Given the description of an element on the screen output the (x, y) to click on. 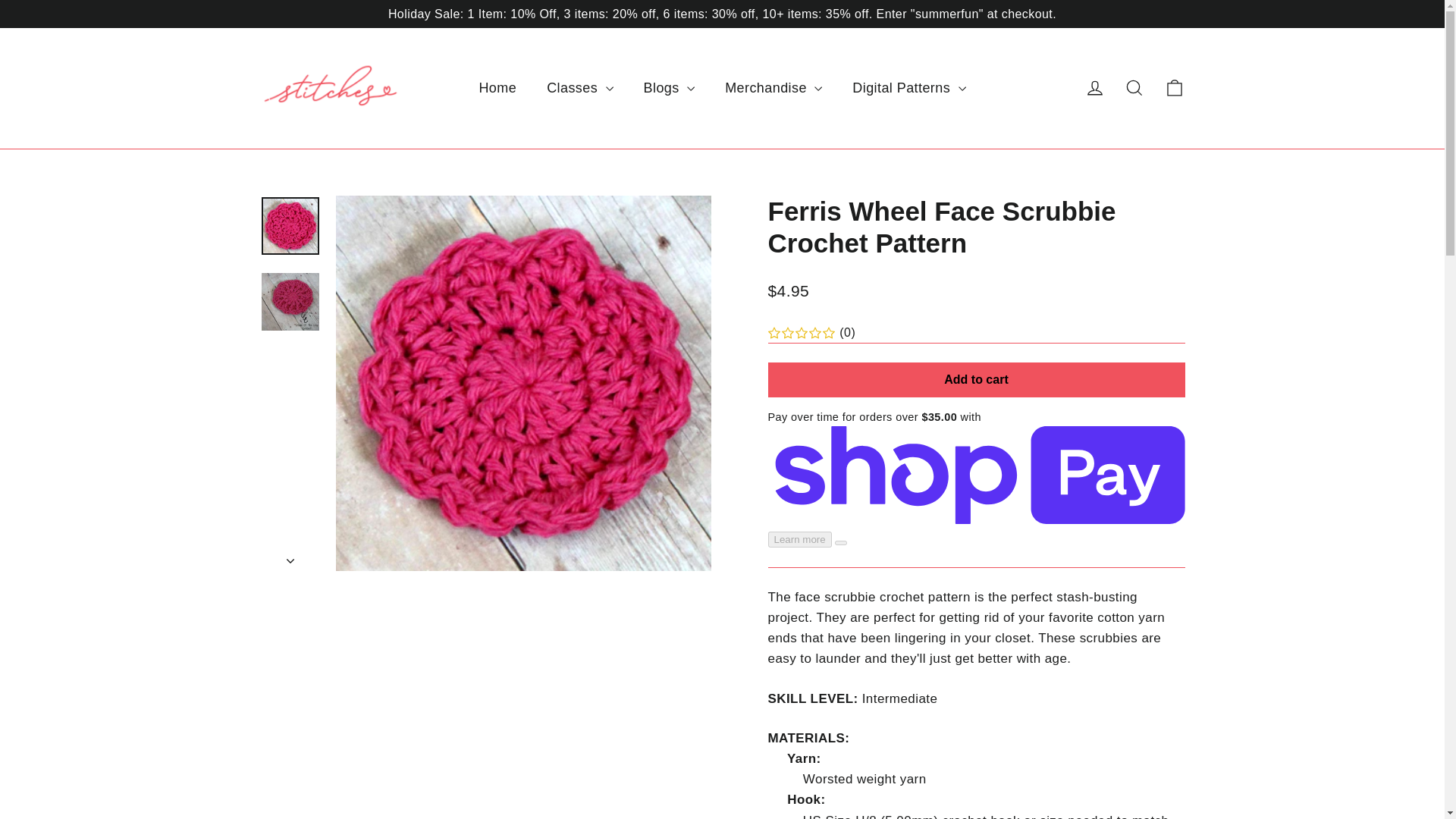
account (1094, 87)
Home (497, 88)
icon-search (1134, 87)
icon-bag-minimal (1174, 87)
